Given the description of an element on the screen output the (x, y) to click on. 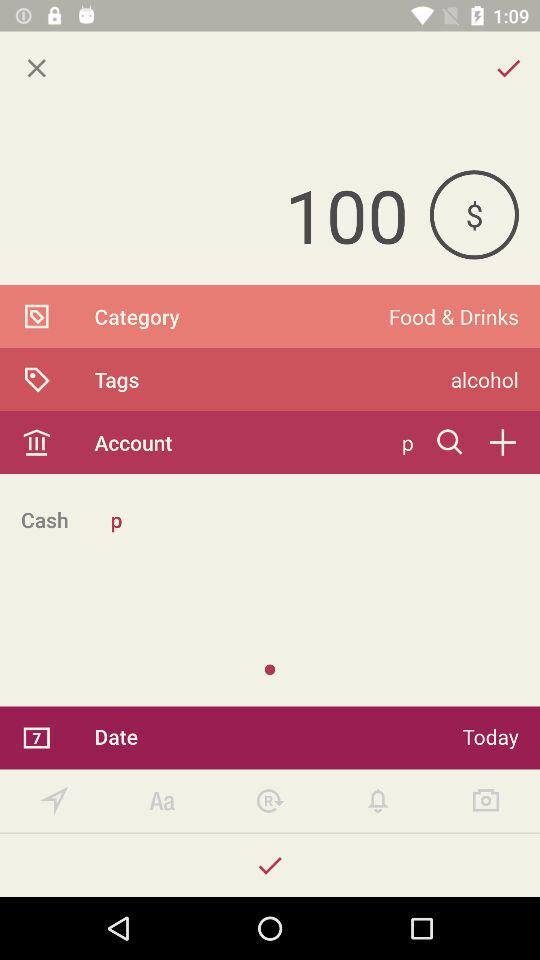
flip until the $ icon (474, 214)
